Given the description of an element on the screen output the (x, y) to click on. 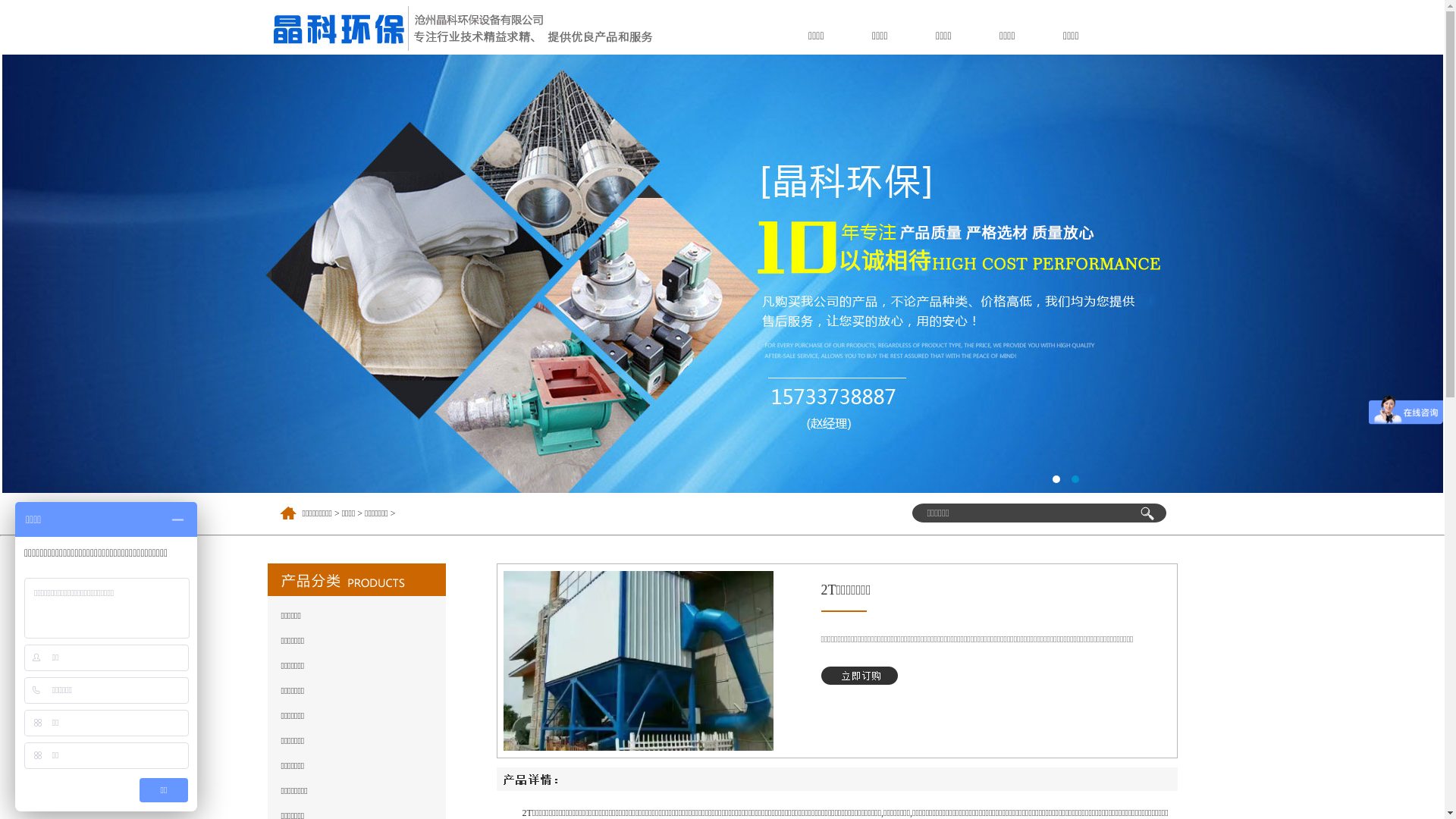
2 Element type: text (1074, 479)
1 Element type: text (1056, 479)
